Given the description of an element on the screen output the (x, y) to click on. 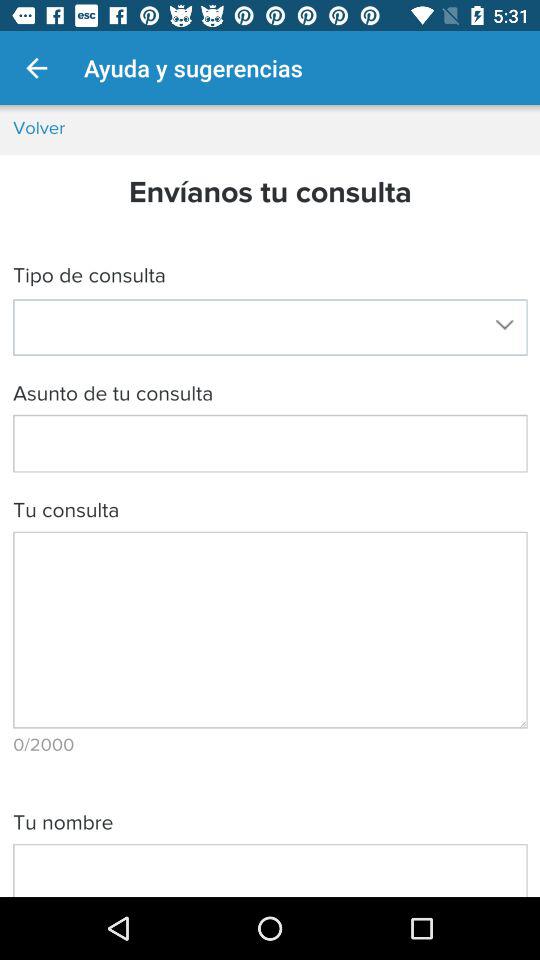
select the all page (270, 501)
